Given the description of an element on the screen output the (x, y) to click on. 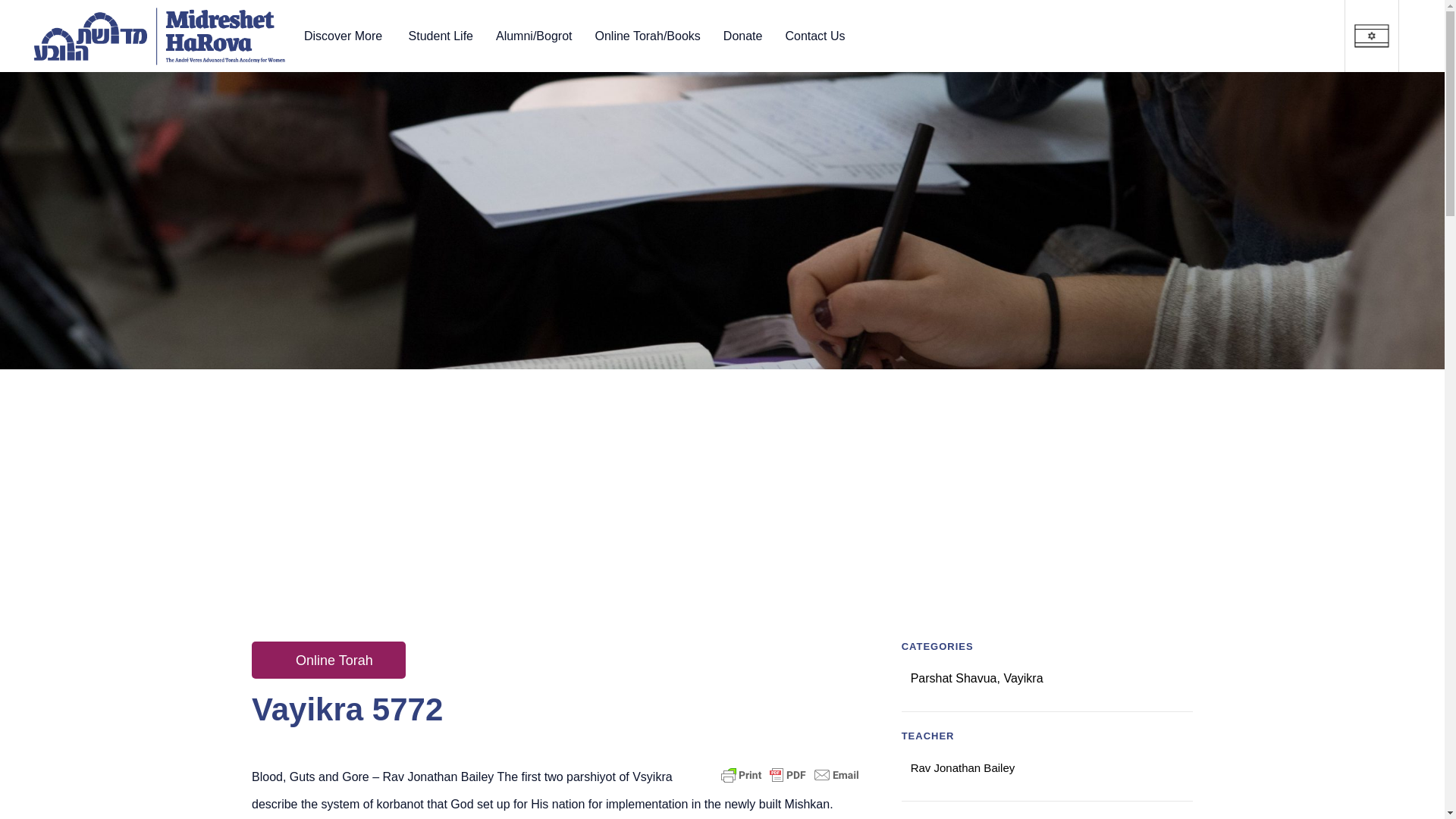
Discover More  (344, 35)
Donate (742, 35)
Contact Us (814, 35)
Student Life (441, 35)
